Given the description of an element on the screen output the (x, y) to click on. 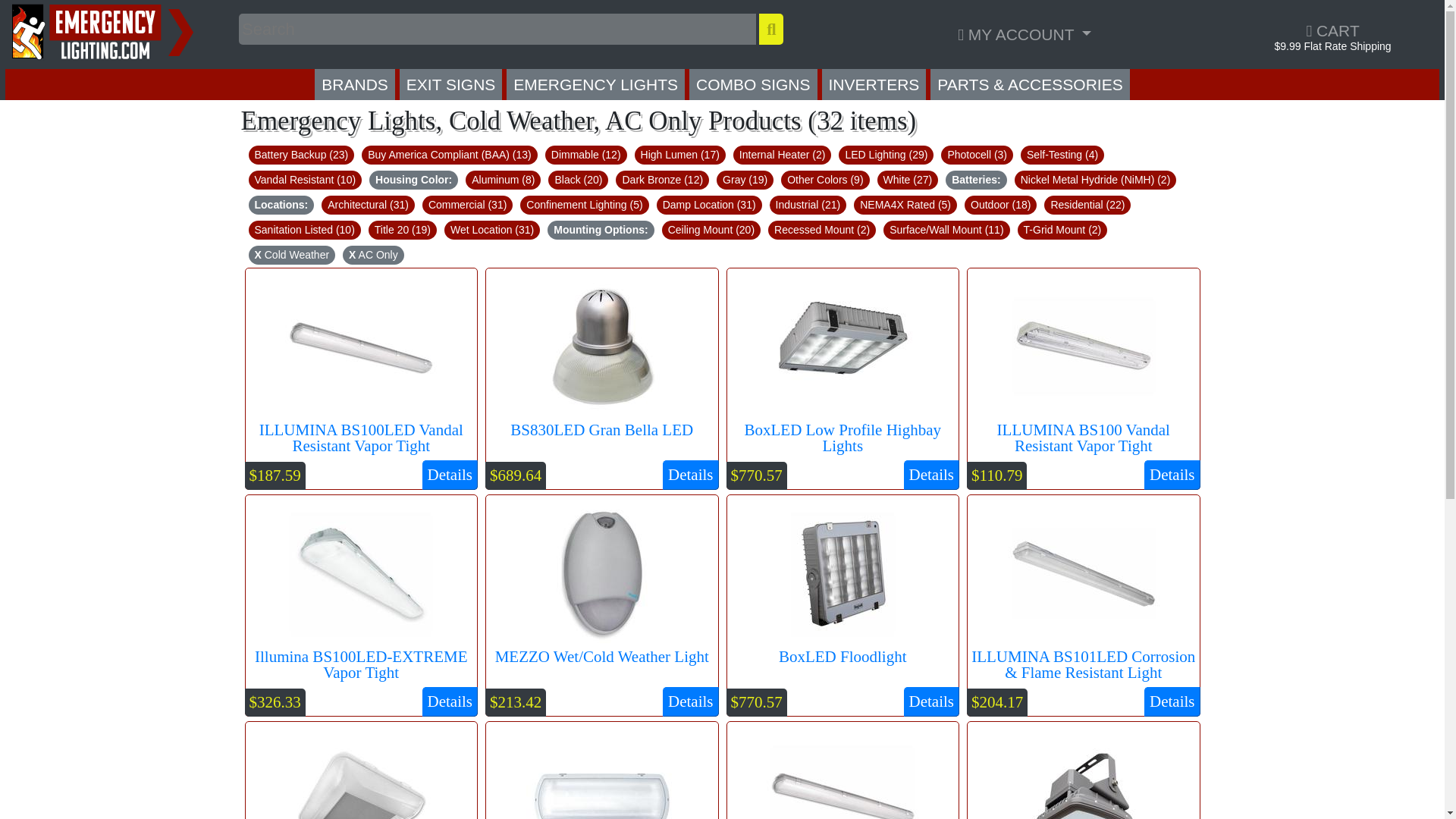
Details (931, 474)
Details (1171, 702)
Details (689, 474)
Details (689, 702)
 MY ACCOUNT (1024, 33)
BRANDS (354, 83)
 CART (1332, 30)
Details (449, 702)
EXIT SIGNS (450, 83)
Details (931, 702)
